Given the description of an element on the screen output the (x, y) to click on. 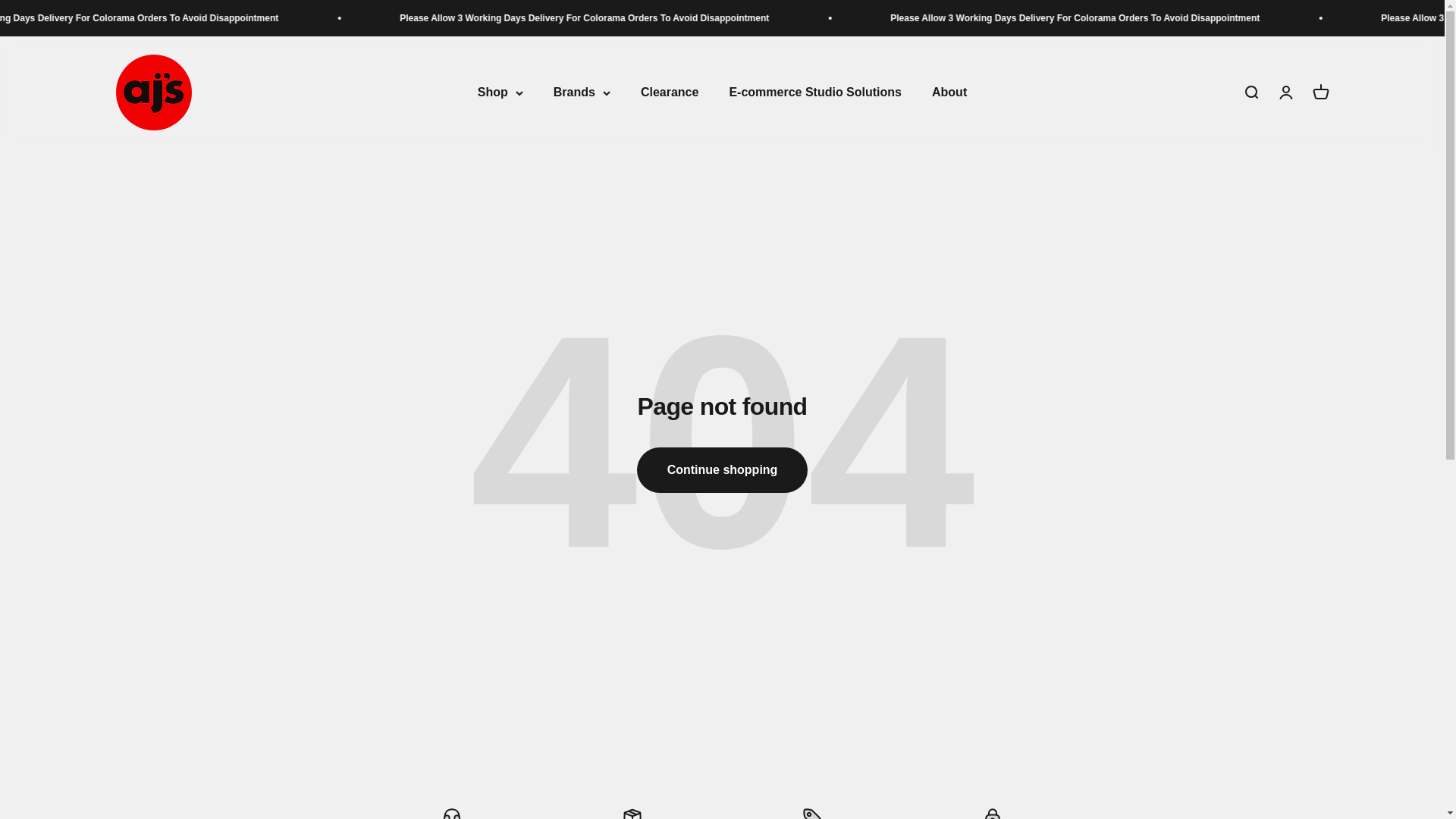
AJ's Photo Video Limited (152, 92)
E-commerce Studio Solutions (815, 92)
Clearance (669, 92)
Shop (499, 93)
About (948, 92)
